Given the description of an element on the screen output the (x, y) to click on. 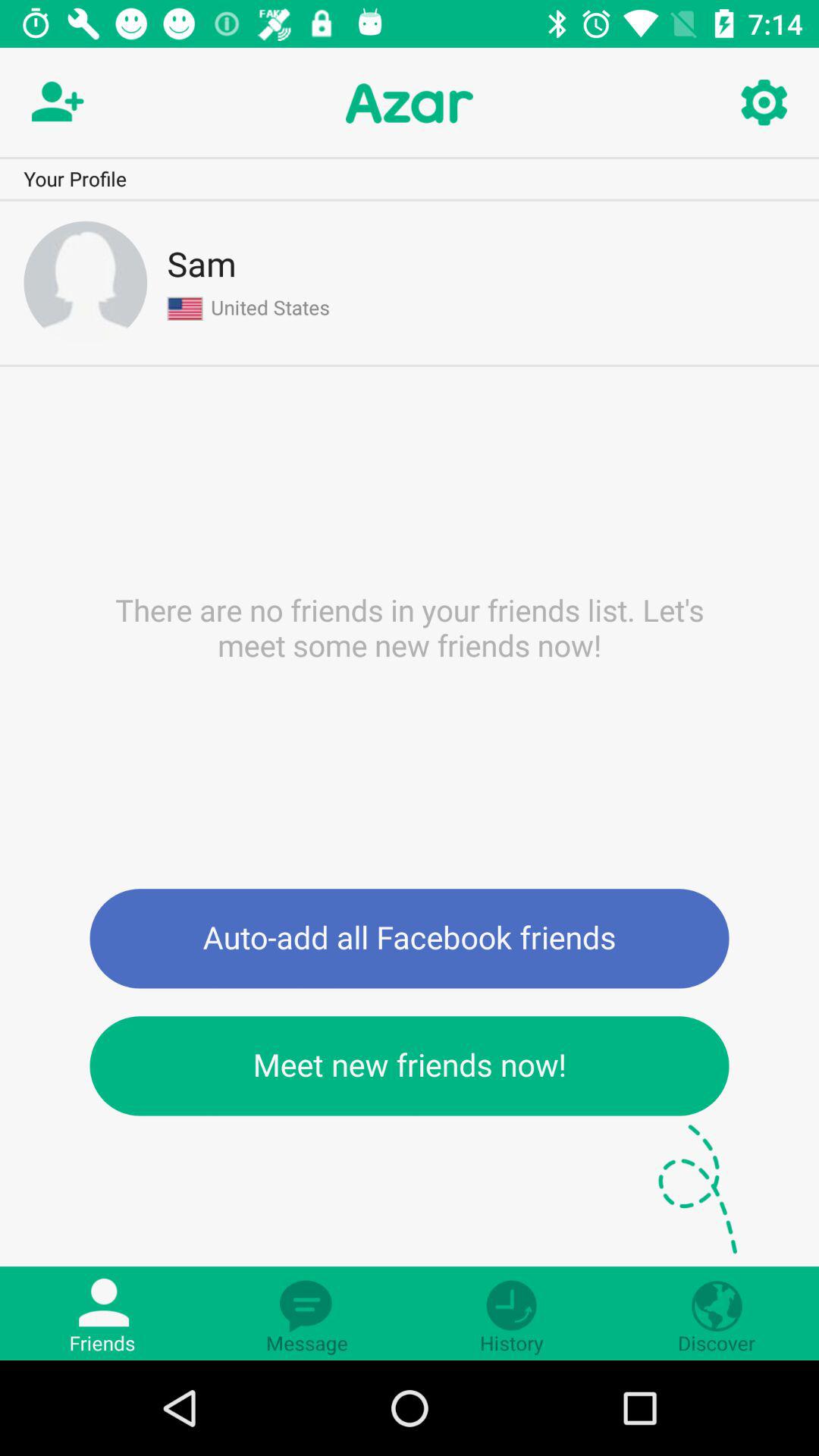
select item at the top right corner (763, 103)
